Given the description of an element on the screen output the (x, y) to click on. 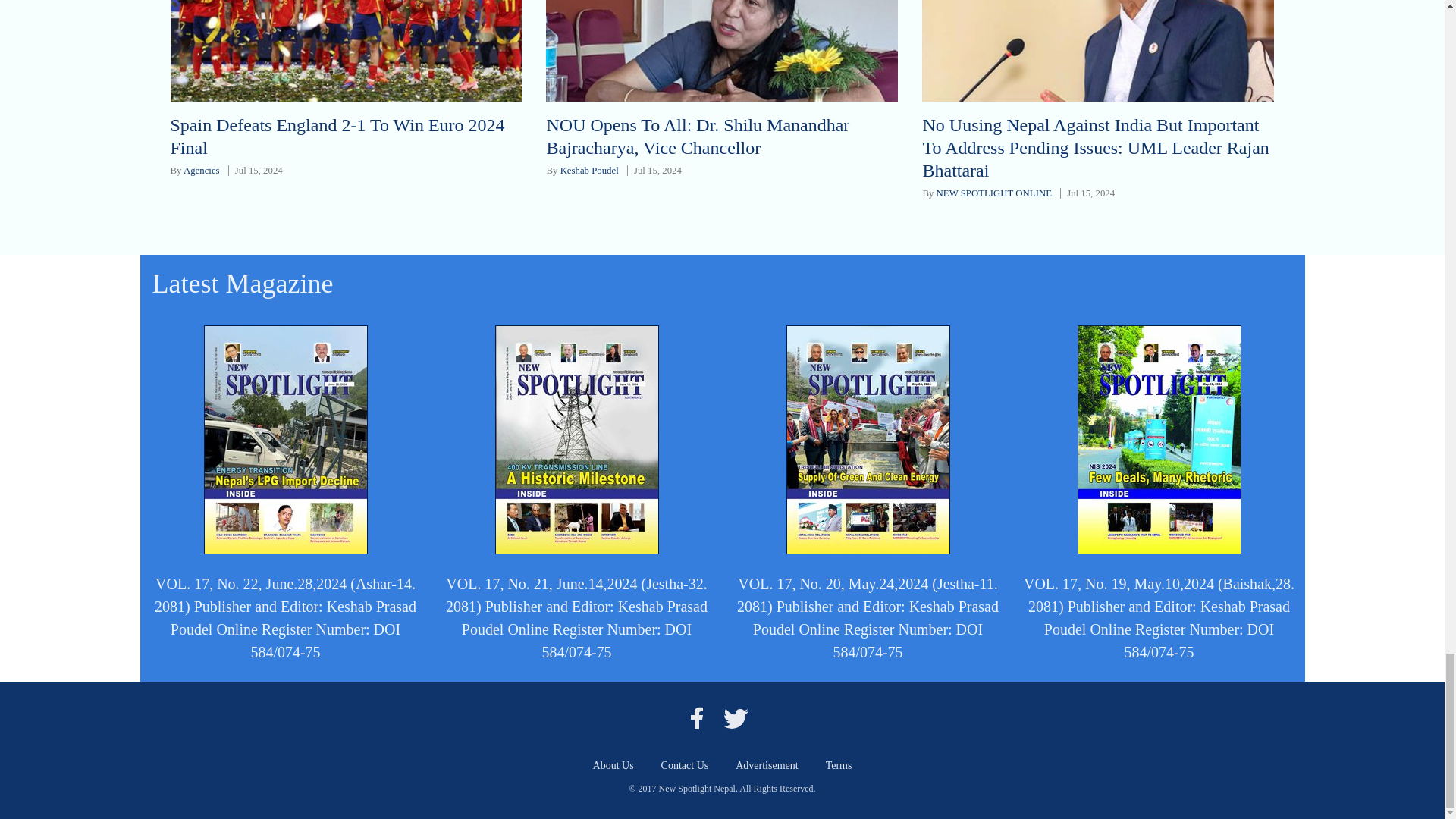
Spotlight Nepal Facebook (695, 717)
Spotlight Nepal Twitter (735, 717)
twitter icon (735, 717)
facebook icon (695, 717)
